Given the description of an element on the screen output the (x, y) to click on. 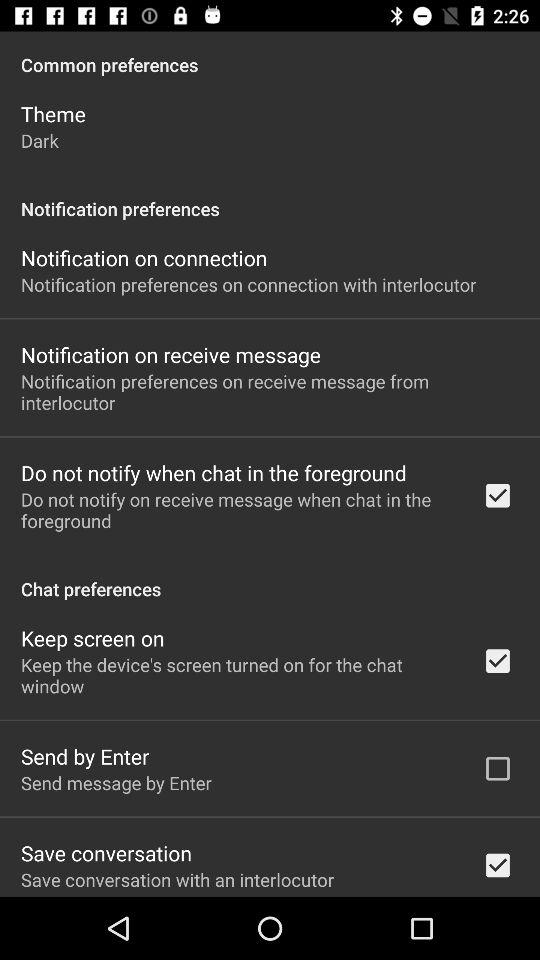
select the app above dark item (53, 113)
